Given the description of an element on the screen output the (x, y) to click on. 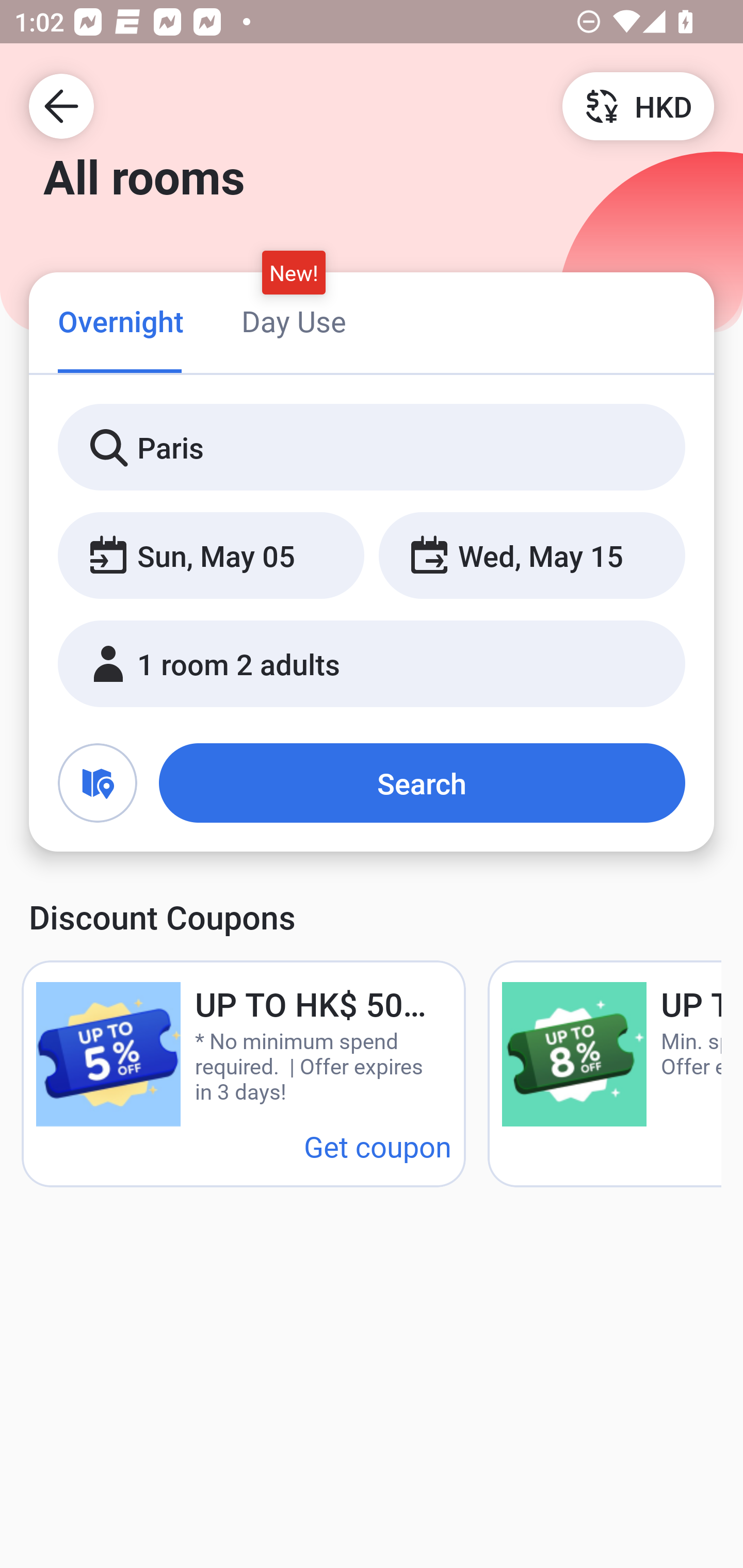
HKD (638, 105)
New! (294, 272)
Day Use (293, 321)
Paris (371, 447)
Sun, May 05 (210, 555)
Wed, May 15 (531, 555)
1 room 2 adults (371, 663)
Search (422, 783)
Get coupon (377, 1146)
